Given the description of an element on the screen output the (x, y) to click on. 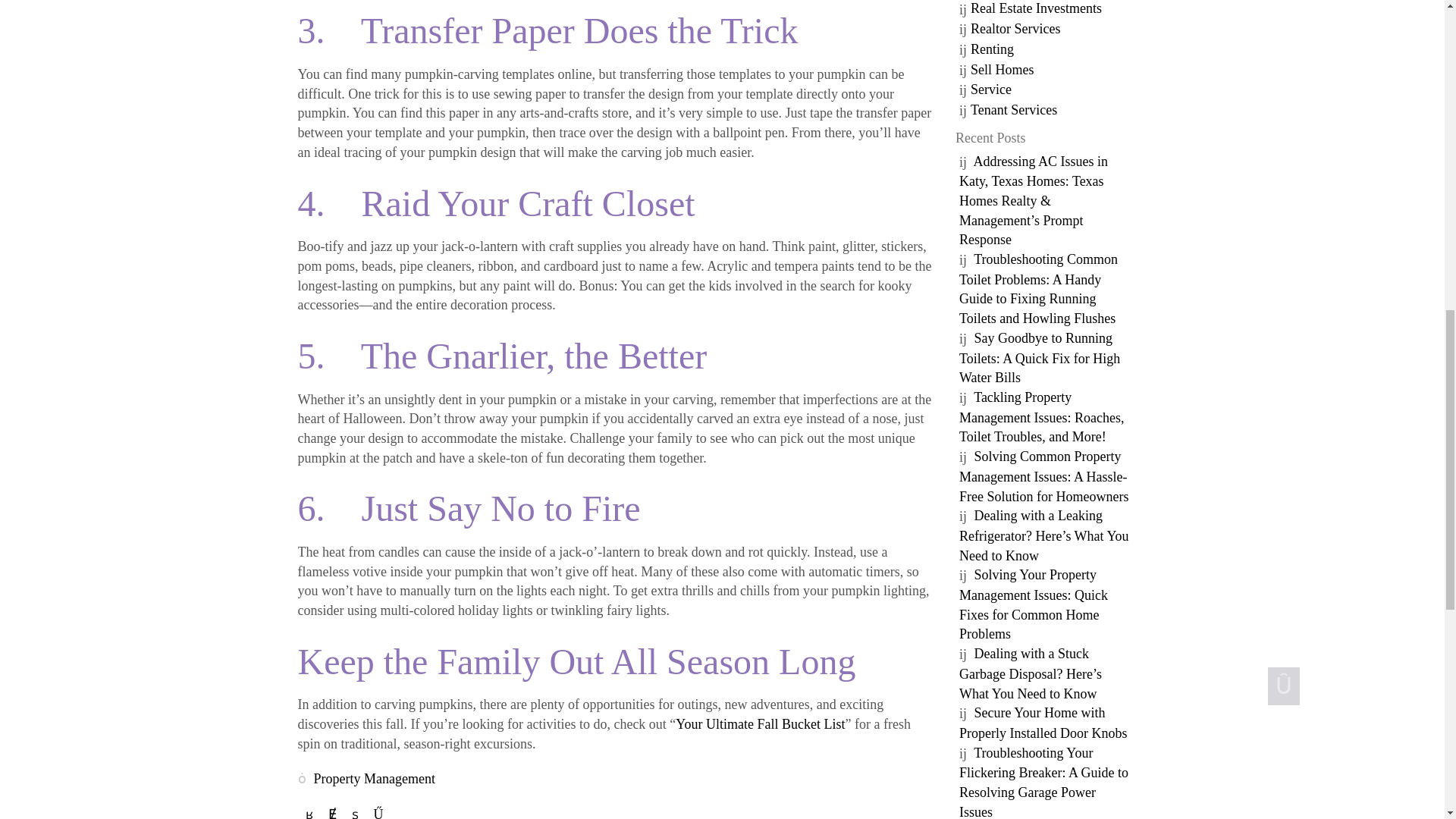
Your Ultimate Fall Bucket List (759, 724)
Property Management (374, 778)
